Given the description of an element on the screen output the (x, y) to click on. 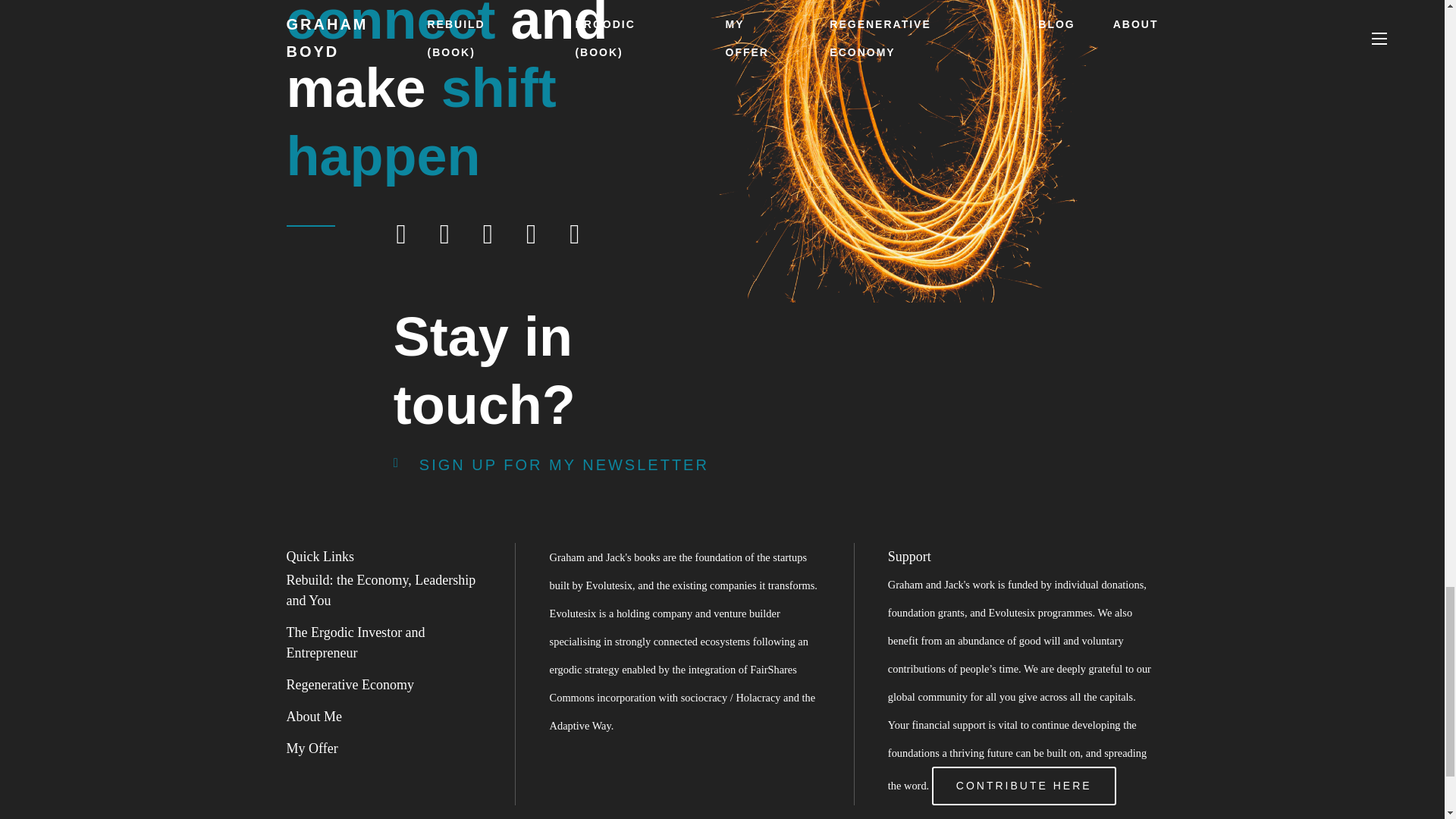
The Ergodic Investor and Entrepreneur (355, 642)
Rebuild: the Economy, Leadership and You (381, 590)
About Me (314, 716)
SIGN UP FOR MY NEWSLETTER (551, 464)
Regenerative Economy (349, 684)
CONTRIBUTE HERE (1023, 785)
My Offer (311, 748)
